Given the description of an element on the screen output the (x, y) to click on. 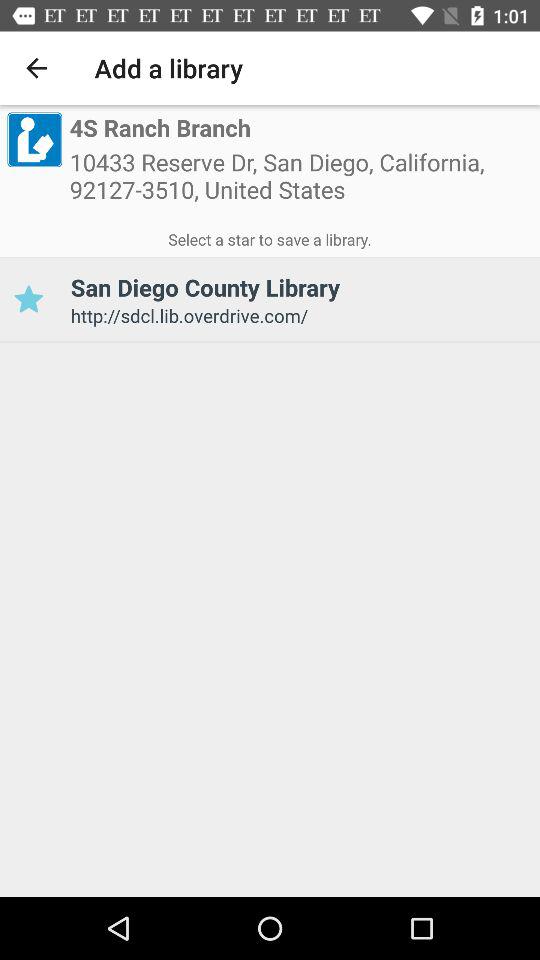
choose the icon next to the 4s ranch branch icon (34, 139)
